Given the description of an element on the screen output the (x, y) to click on. 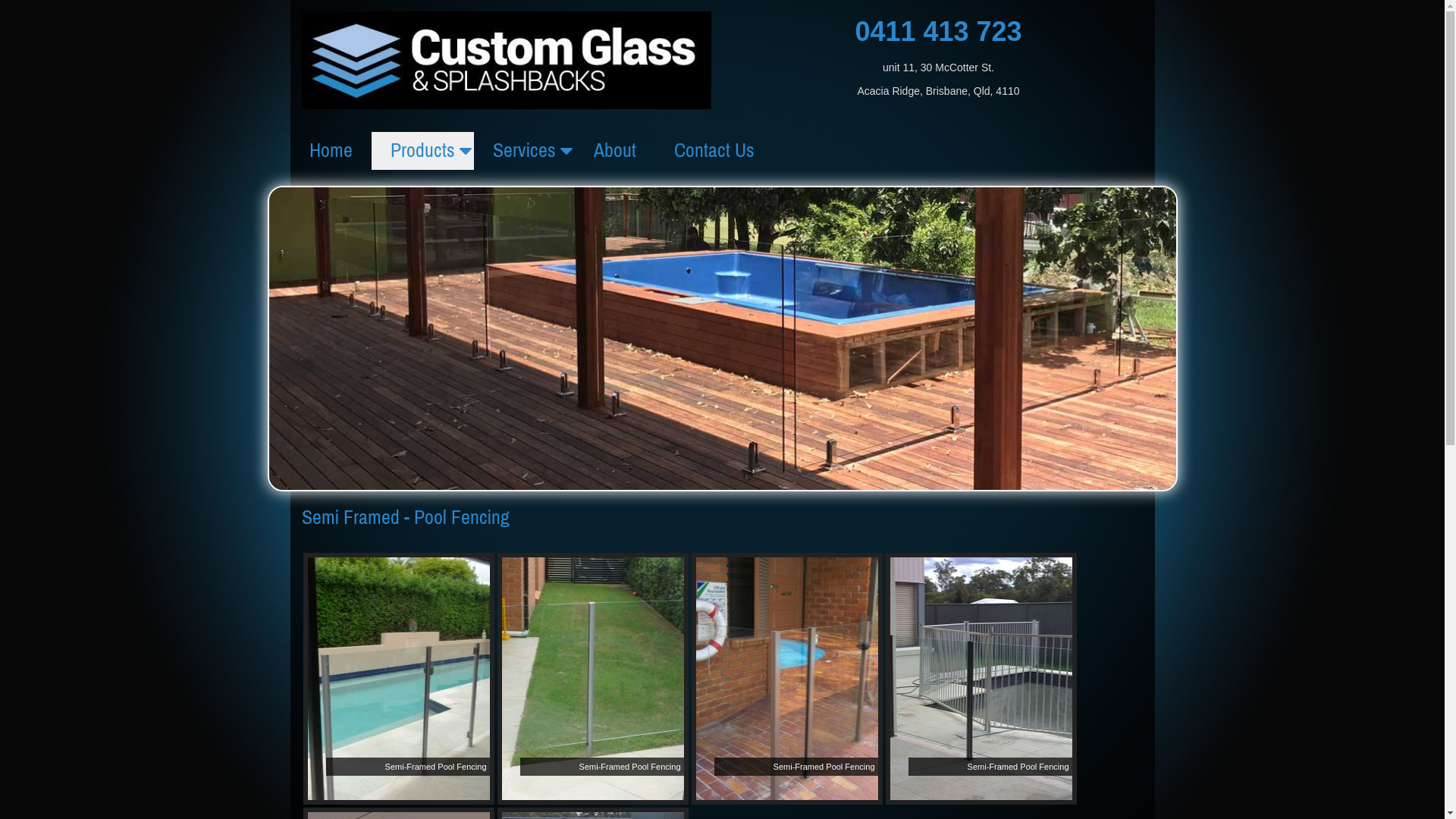
Click to enlarge image pool01b.jpg Element type: hover (593, 678)
0411 413 723 Element type: text (937, 31)
Products Element type: text (422, 150)
Semi-Framed Pool Fencing Element type: text (592, 678)
Click to enlarge image pool01.jpg Element type: hover (398, 678)
Home Element type: text (329, 150)
Click to enlarge image pool03.jpg Element type: hover (787, 678)
Semi-Framed Pool Fencing Element type: text (980, 678)
About Element type: text (614, 150)
Services Element type: text (523, 150)
Semi-Framed Pool Fencing Element type: text (398, 678)
Semi-Framed Pool Fencing Element type: text (786, 678)
Custom Glass and Splashbacks Element type: hover (506, 60)
Click to enlarge image pool03a.jpg Element type: hover (981, 678)
Custom Glass and Splashbacks Element type: hover (506, 59)
Contact Us Element type: text (714, 150)
